Given the description of an element on the screen output the (x, y) to click on. 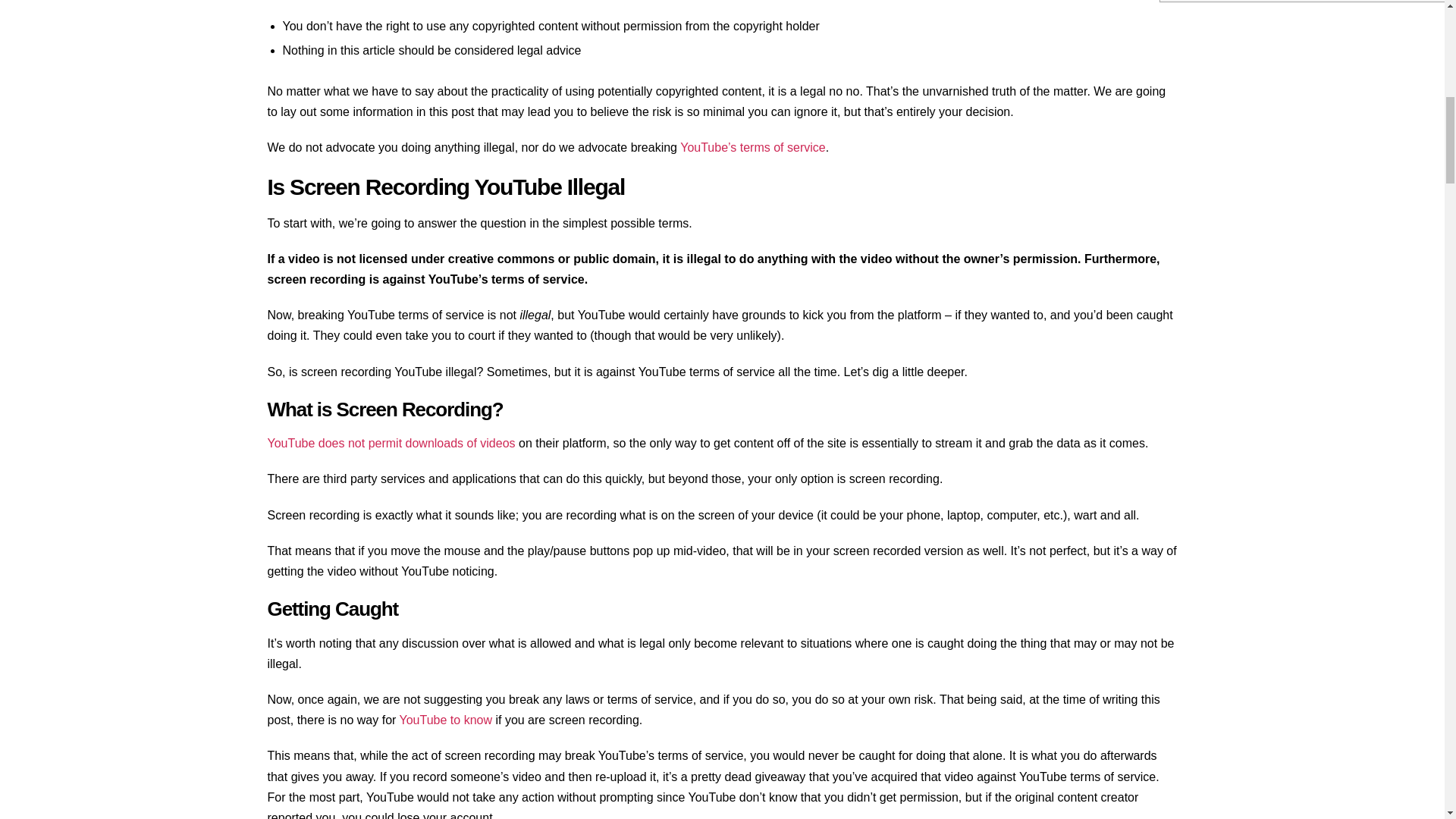
YouTube to know (445, 719)
YouTube does not permit downloads of videos (390, 442)
